Given the description of an element on the screen output the (x, y) to click on. 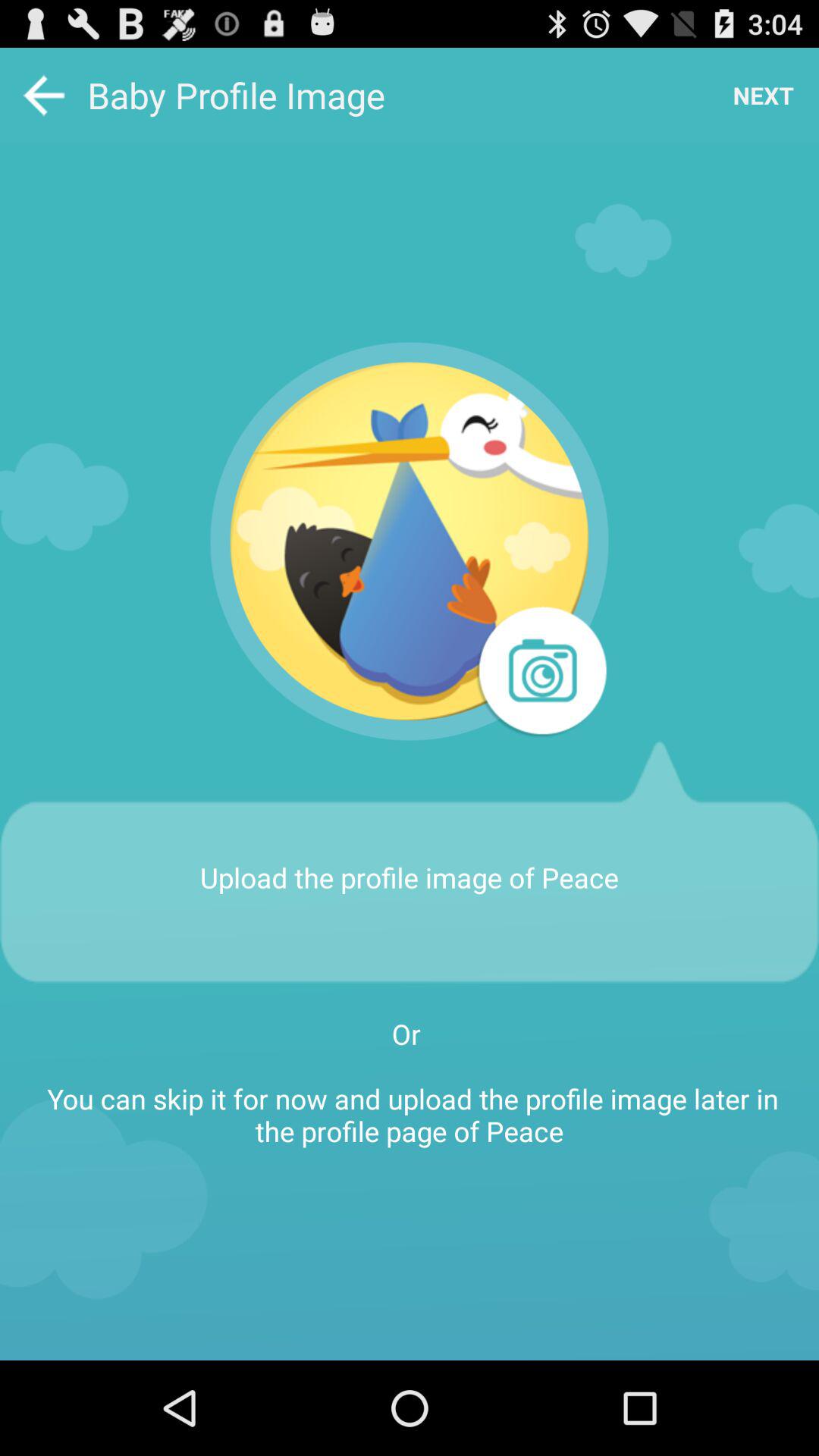
click the item next to the baby profile image (763, 95)
